Given the description of an element on the screen output the (x, y) to click on. 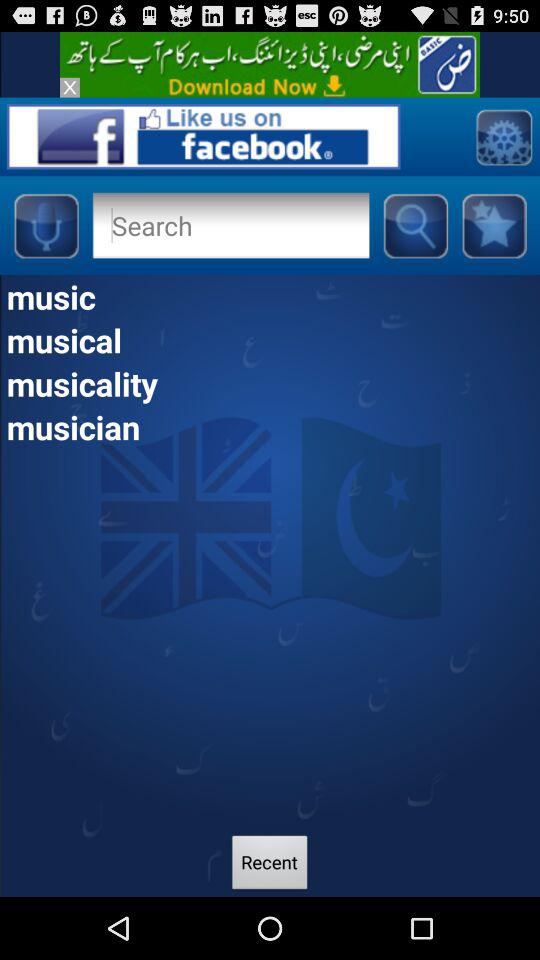
open icon above music item (493, 225)
